Given the description of an element on the screen output the (x, y) to click on. 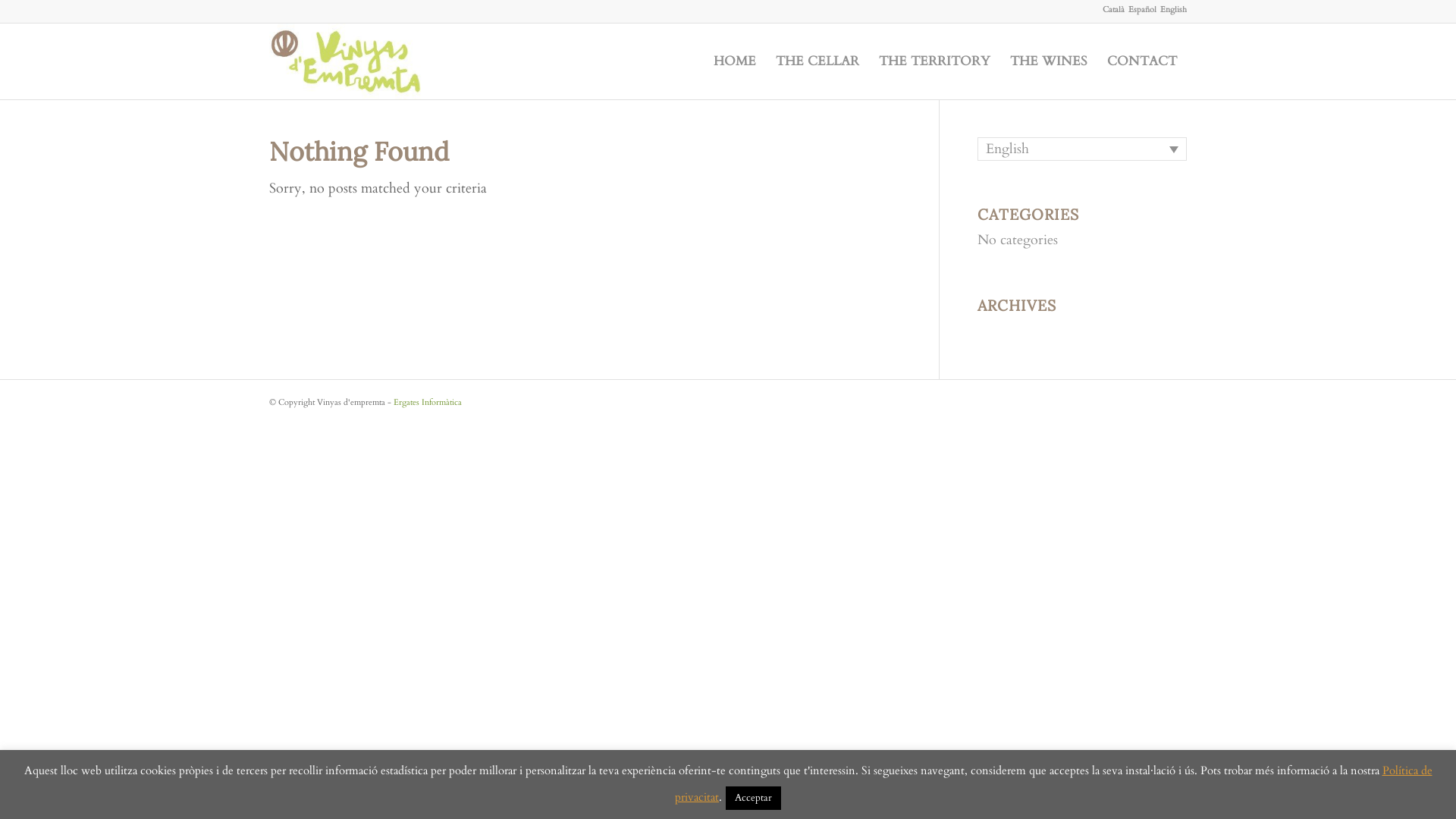
Acceptar Element type: text (753, 797)
CONTACT Element type: text (1141, 61)
English Element type: text (1173, 9)
HOME Element type: text (734, 61)
English Element type: text (1081, 148)
THE WINES Element type: text (1048, 61)
THE TERRITORY Element type: text (934, 61)
THE CELLAR Element type: text (817, 61)
